Given the description of an element on the screen output the (x, y) to click on. 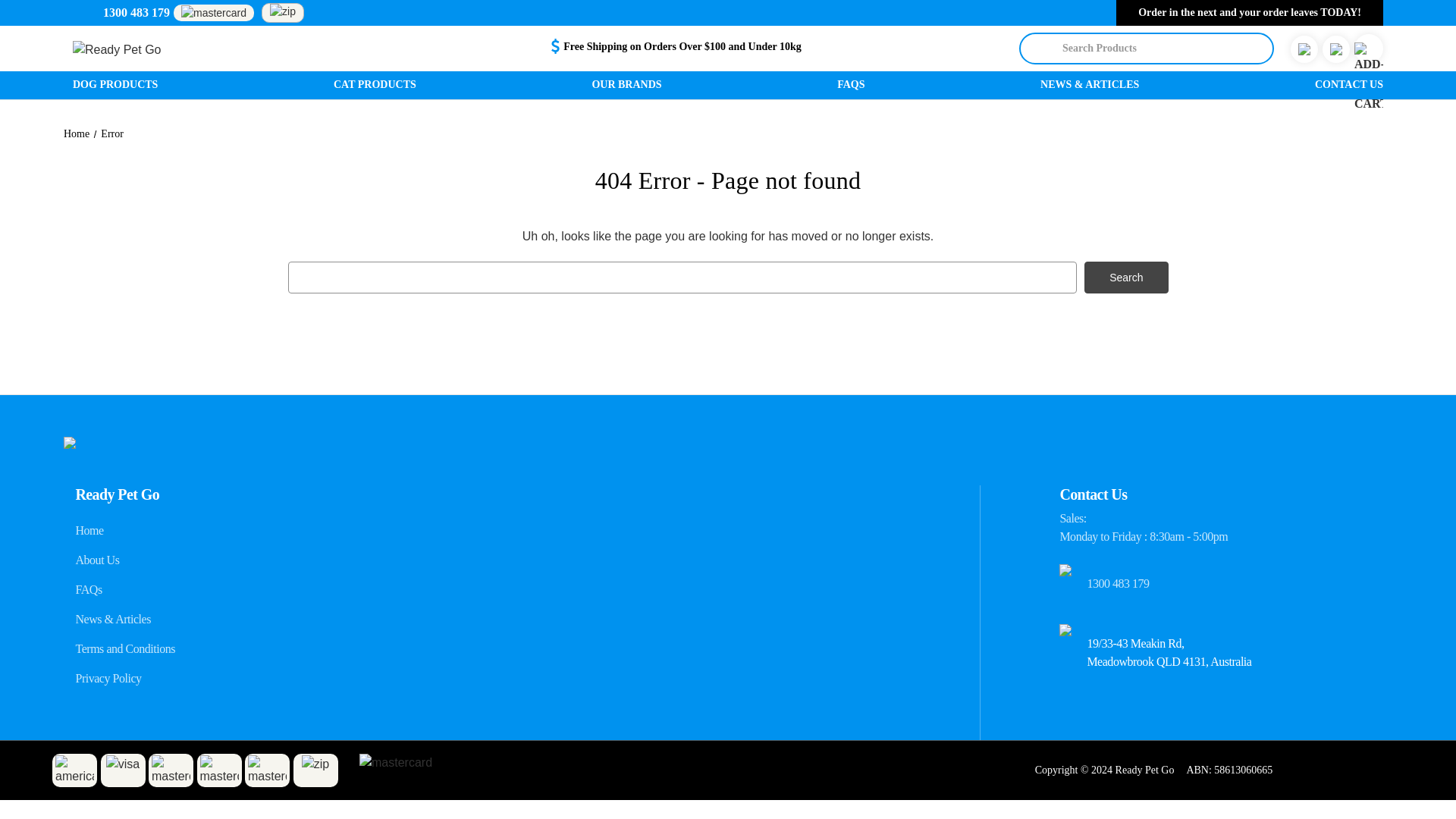
Search (1125, 276)
1300 483 179 (136, 11)
Ready Pet Go (215, 49)
DOG PRODUCTS (114, 85)
